Given the description of an element on the screen output the (x, y) to click on. 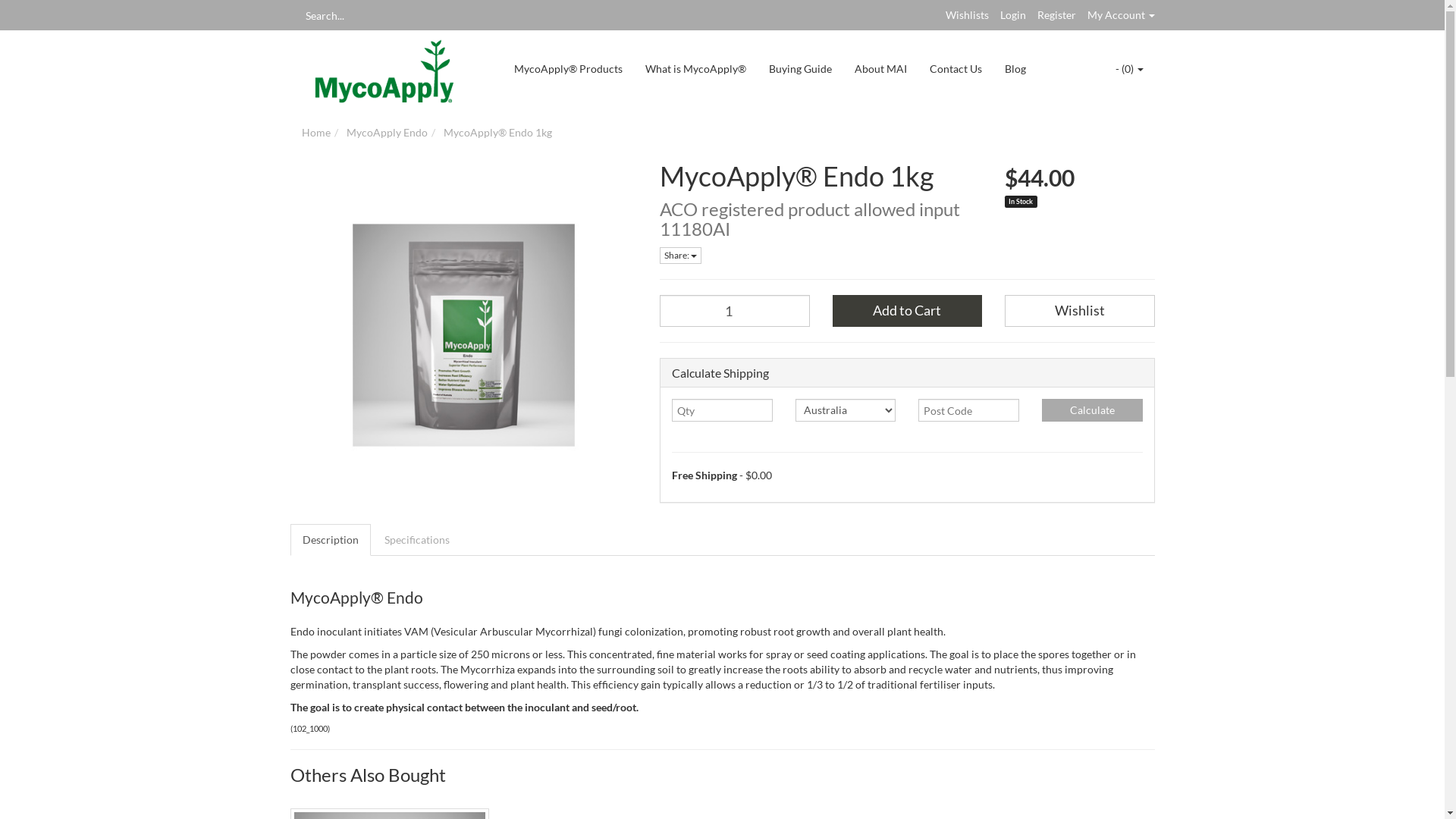
MycoApply Endo Element type: text (385, 131)
Home Element type: text (315, 131)
Wishlists Element type: text (966, 14)
Register Element type: text (1056, 14)
Specifications Element type: text (416, 539)
- (0) Element type: text (1129, 68)
About MAI Element type: text (880, 68)
Buying Guide Element type: text (799, 68)
Contact Us Element type: text (954, 68)
Login Element type: text (1012, 14)
Add to Cart Element type: text (907, 310)
Blog Element type: text (1015, 68)
Share: Element type: text (680, 255)
Calculate Element type: text (1091, 409)
Description Element type: text (329, 539)
Wishlist Element type: text (1079, 310)
Search Element type: text (294, 14)
My Account Element type: text (1120, 14)
